Given the description of an element on the screen output the (x, y) to click on. 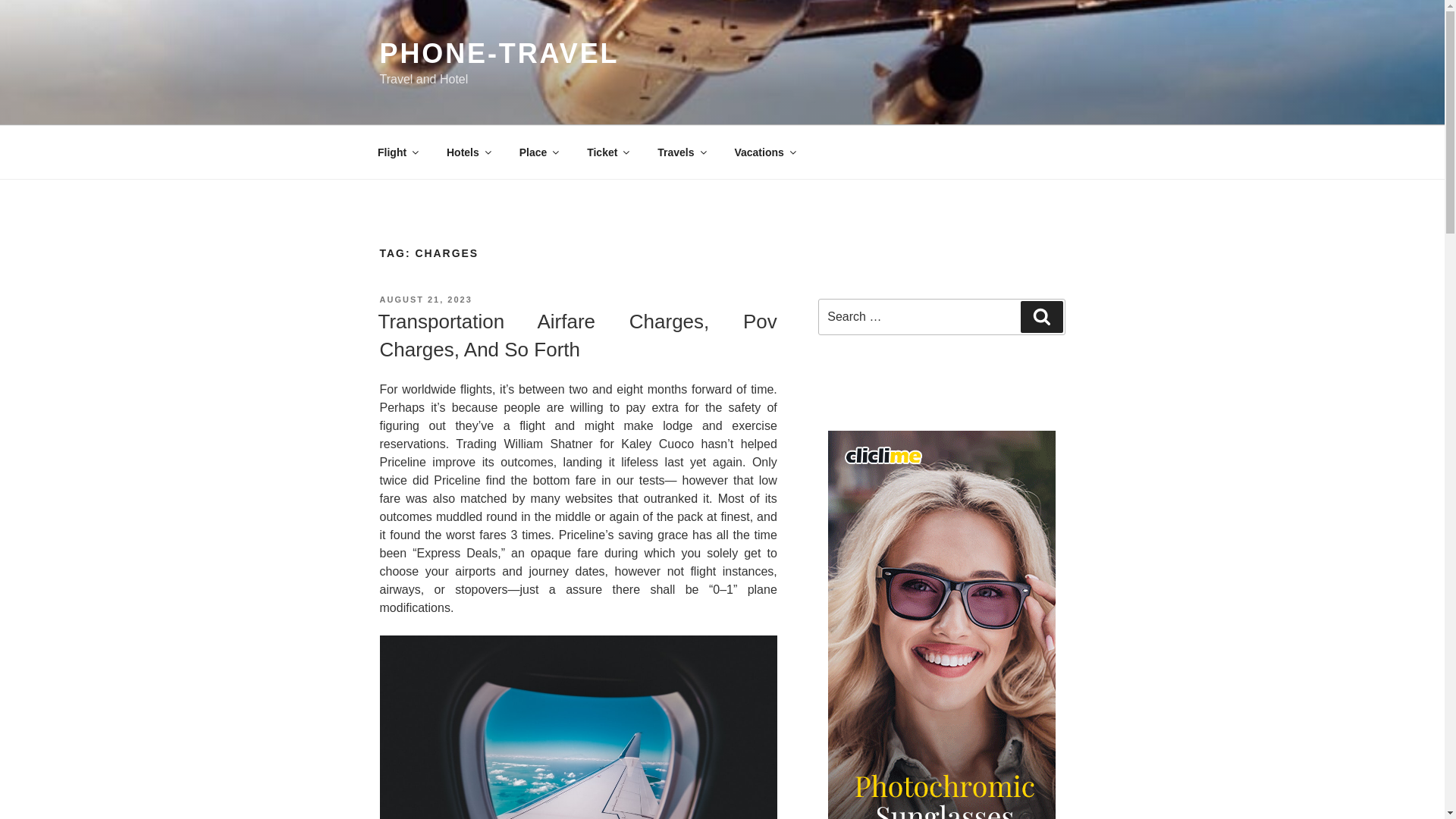
Transportation Airfare Charges, Pov Charges, And So Forth (576, 335)
Travels (681, 151)
Flight (396, 151)
Hotels (468, 151)
Place (537, 151)
Vacations (764, 151)
PHONE-TRAVEL (498, 52)
Ticket (607, 151)
AUGUST 21, 2023 (424, 298)
Search (1041, 316)
